Given the description of an element on the screen output the (x, y) to click on. 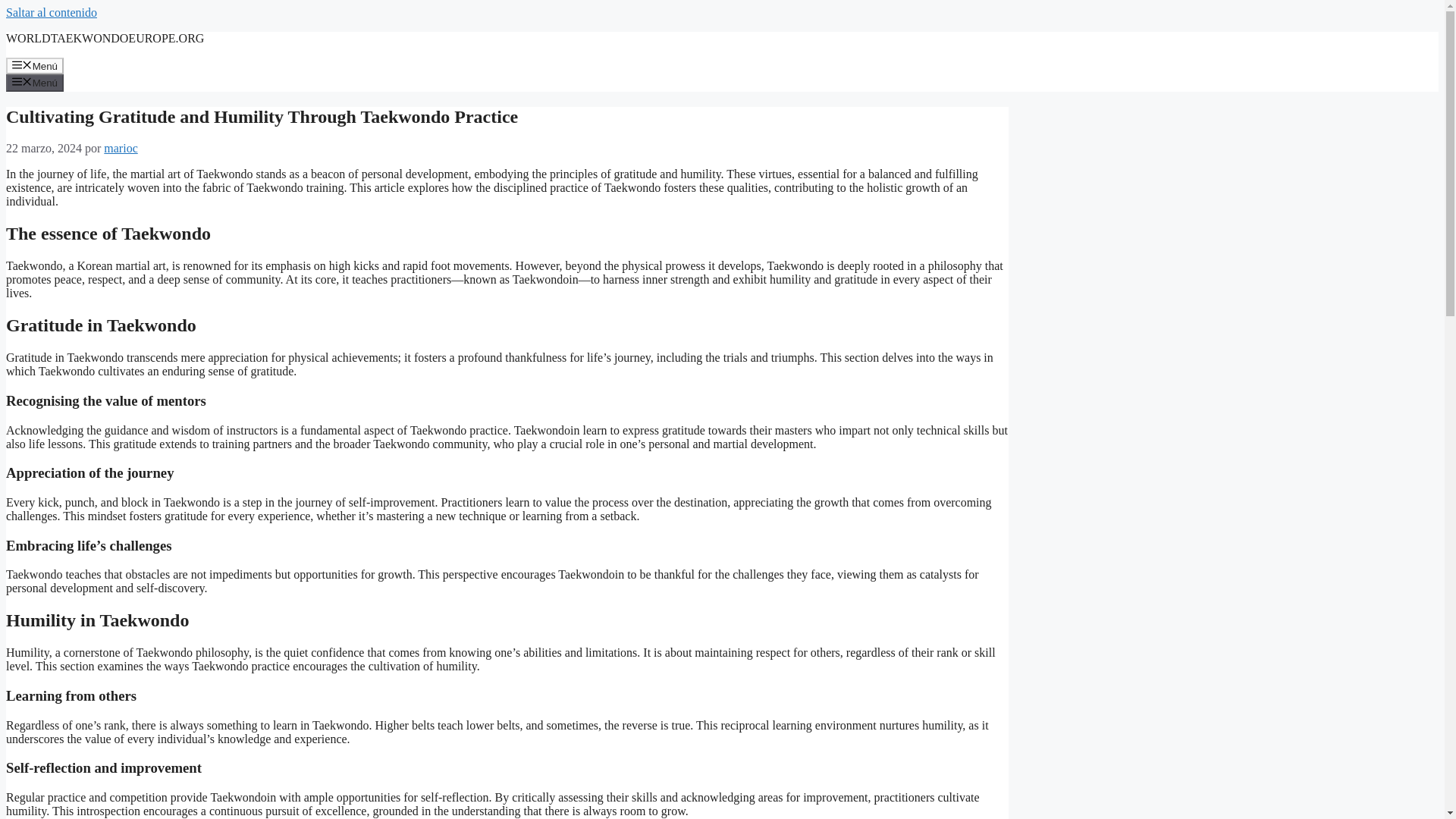
Saltar al contenido (51, 11)
WORLDTAEKWONDOEUROPE.ORG (104, 38)
Ver todas las entradas de marioc (119, 147)
Saltar al contenido (51, 11)
marioc (119, 147)
